Given the description of an element on the screen output the (x, y) to click on. 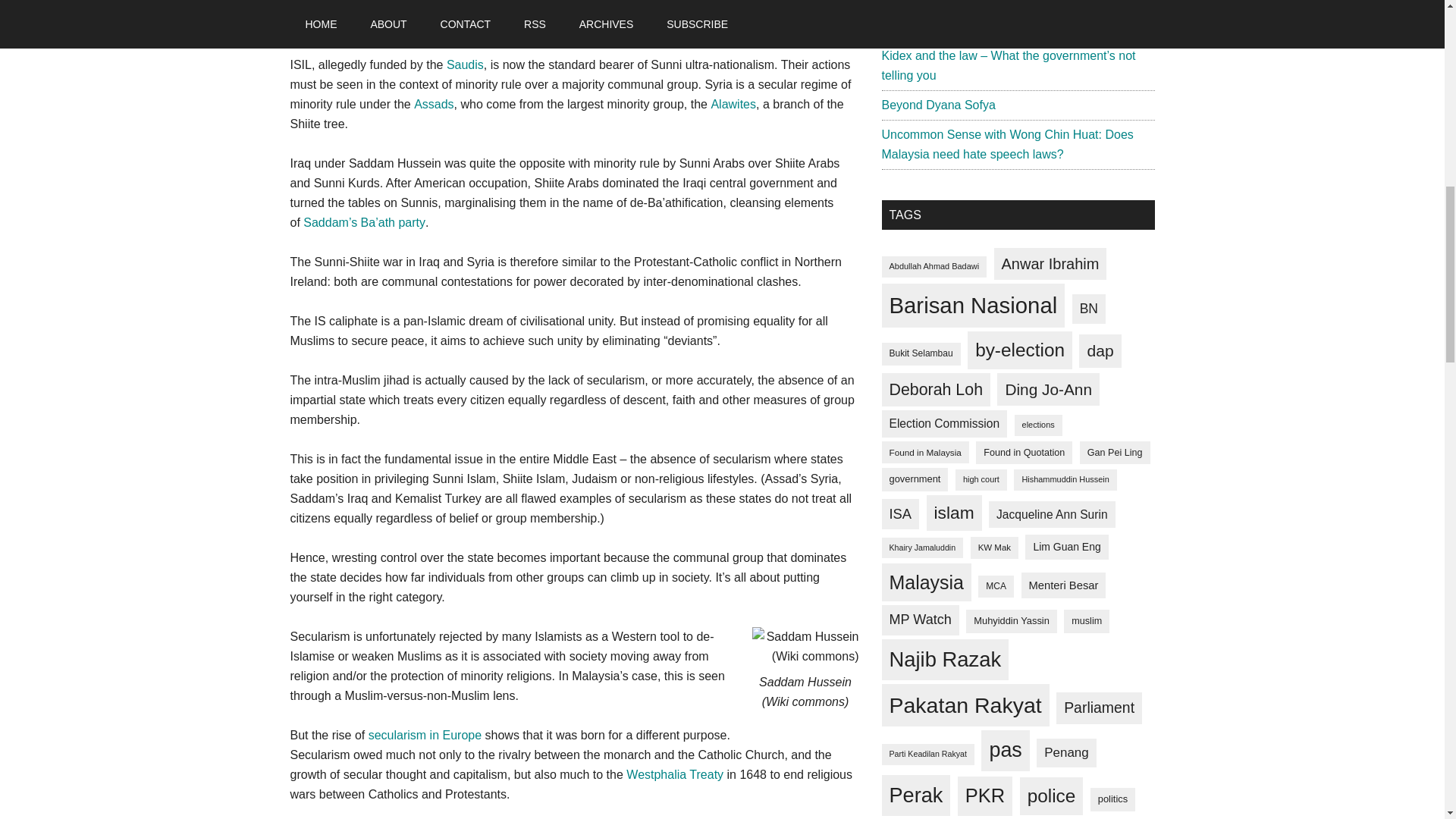
Assads (432, 103)
Alawites (732, 103)
secularism in Europe (424, 735)
Saudis (464, 64)
